Given the description of an element on the screen output the (x, y) to click on. 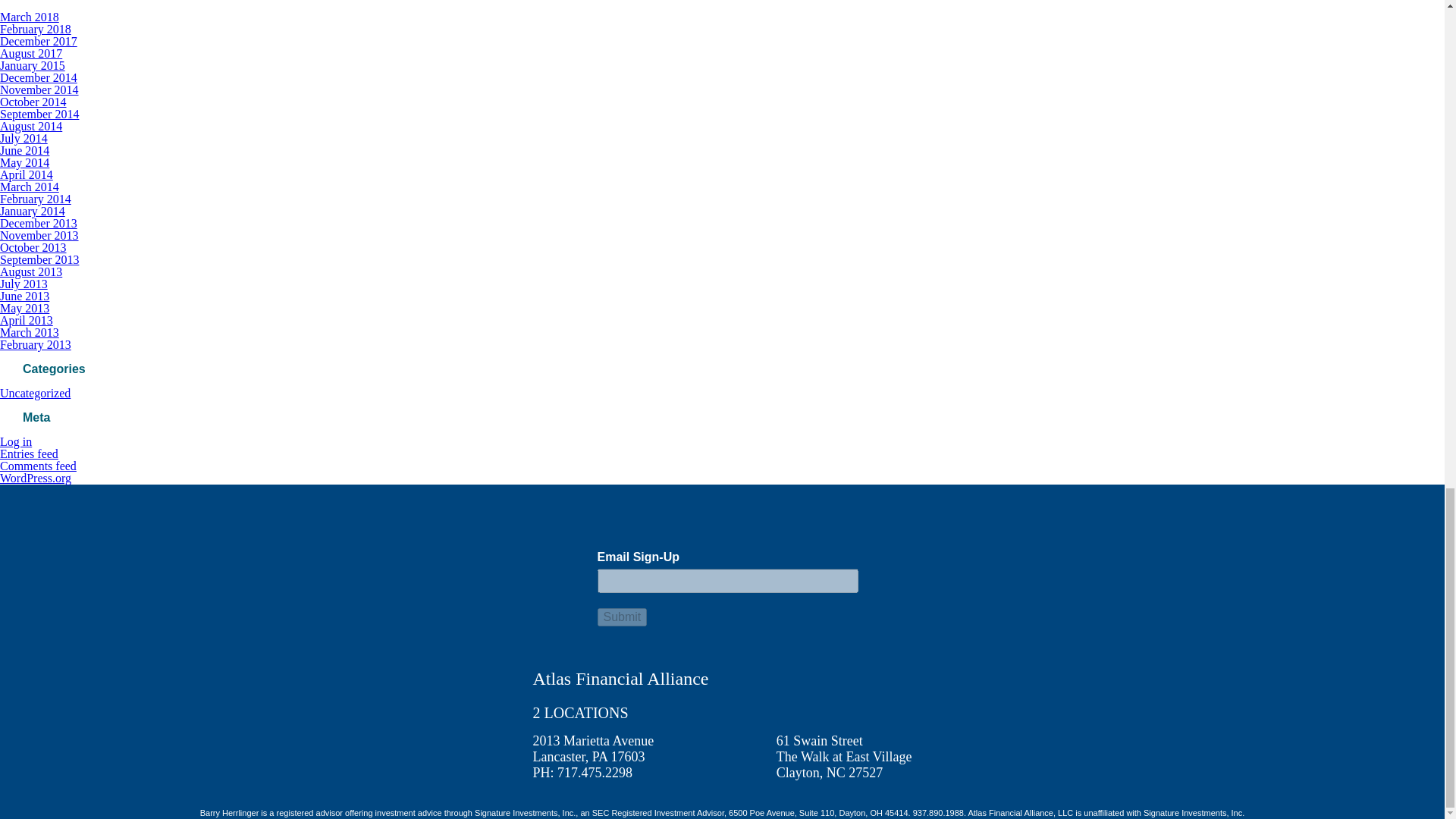
December 2014 (38, 77)
March 2018 (29, 16)
August 2014 (31, 125)
January 2015 (32, 65)
September 2014 (39, 113)
October 2014 (33, 101)
February 2018 (35, 29)
December 2017 (38, 41)
August 2017 (31, 52)
Submit (621, 617)
November 2014 (39, 89)
